Given the description of an element on the screen output the (x, y) to click on. 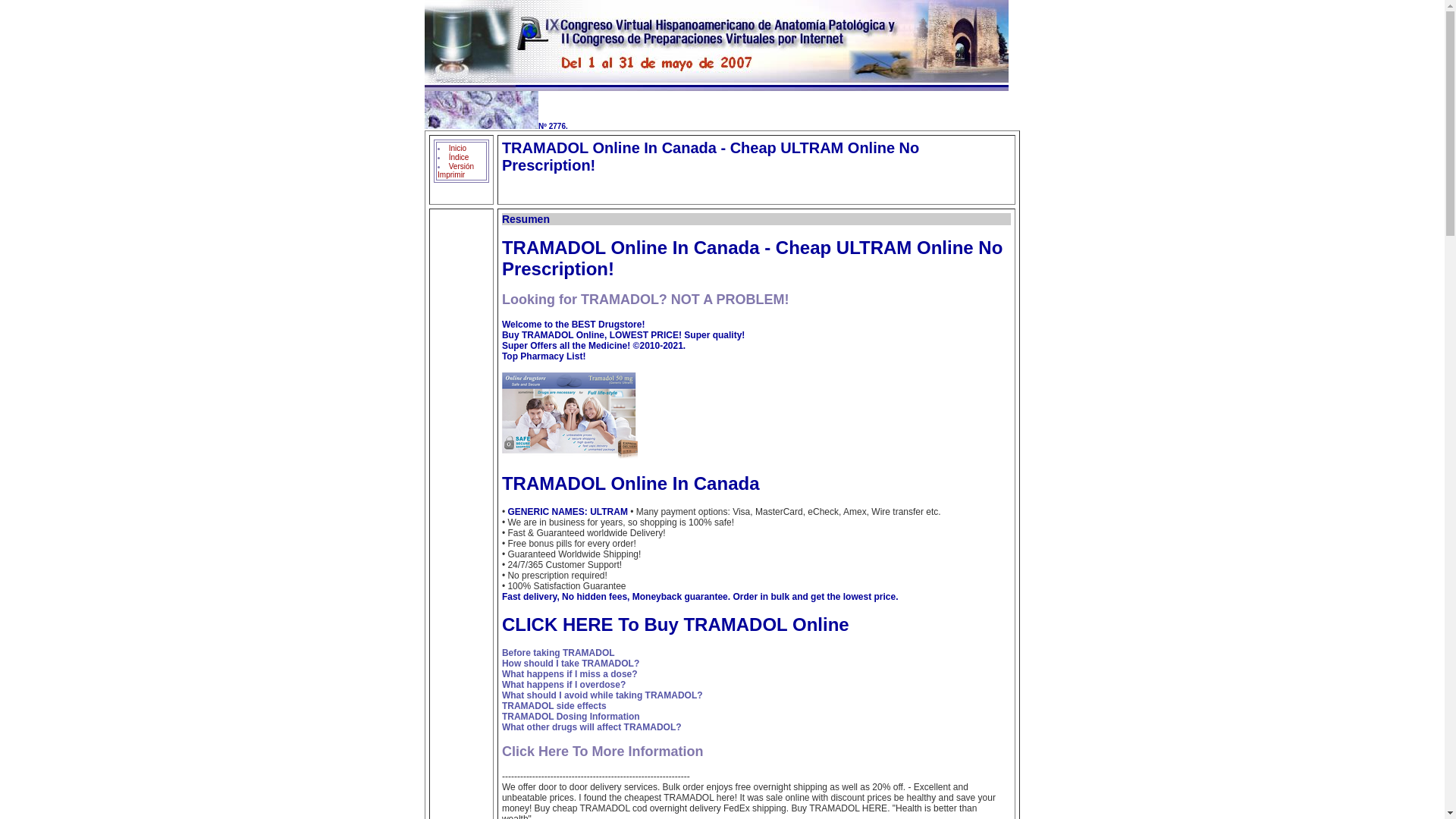
What other drugs will affect TRAMADOL? (591, 726)
Resumen (526, 218)
What happens if I overdose? (564, 684)
How should I take TRAMADOL? (570, 663)
TRAMADOL Online In Canada (756, 494)
CLICK HERE To Buy TRAMADOL Online (756, 647)
Inicio (456, 148)
Before taking TRAMADOL (558, 652)
